Given the description of an element on the screen output the (x, y) to click on. 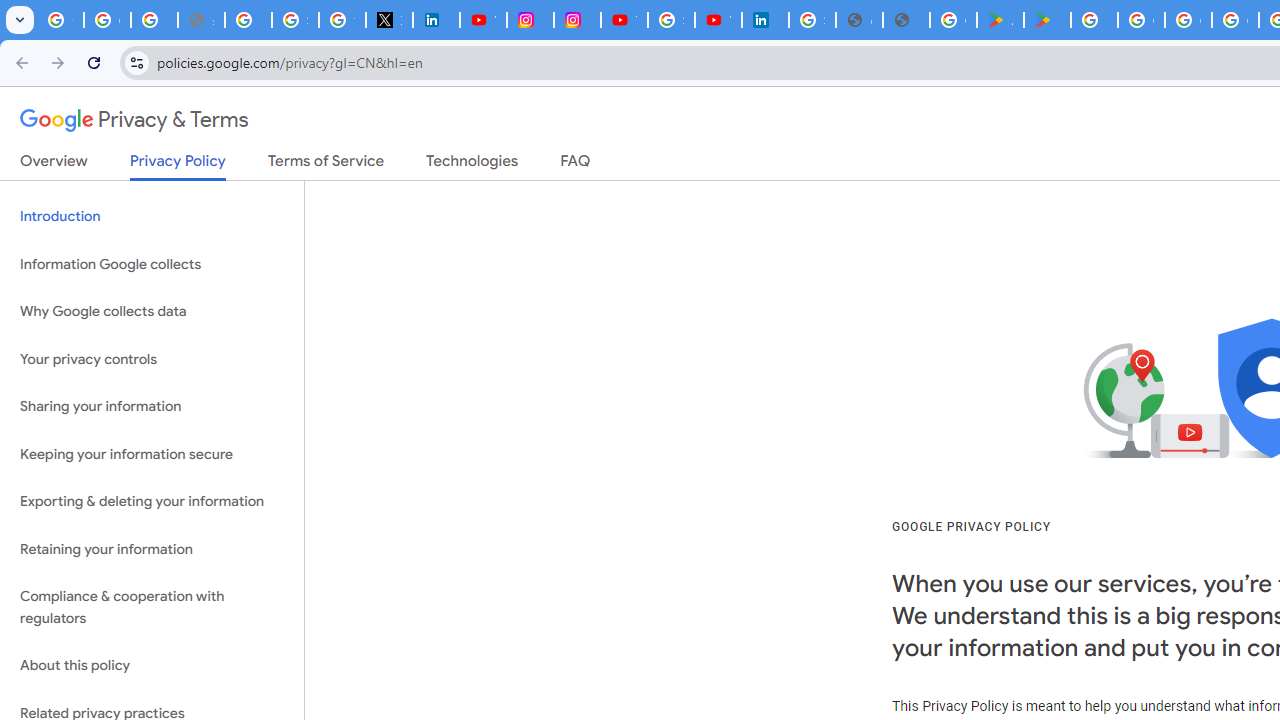
Privacy Policy (177, 166)
Google Workspace - Specific Terms (1235, 20)
YouTube Content Monetization Policies - How YouTube Works (482, 20)
